Given the description of an element on the screen output the (x, y) to click on. 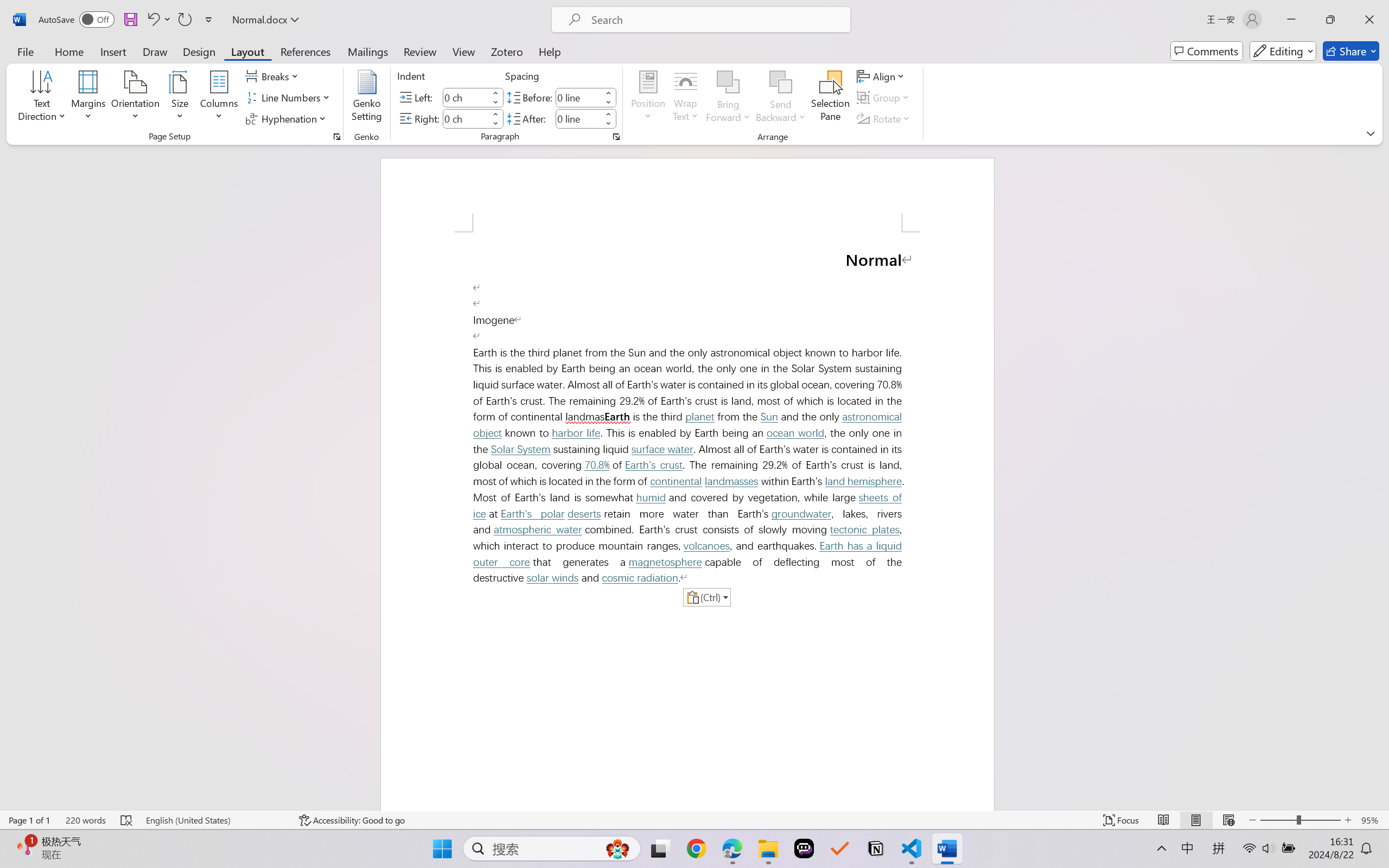
70.8% (596, 465)
Line Numbers (289, 97)
Genko Setting... (367, 97)
Earth's polar (533, 513)
tectonic plates (865, 529)
cosmic radiation (639, 578)
Repeat Paste Option (184, 19)
humid (650, 497)
Spacing After (578, 118)
Paragraph... (615, 136)
Align (881, 75)
land hemisphere (863, 480)
